Given the description of an element on the screen output the (x, y) to click on. 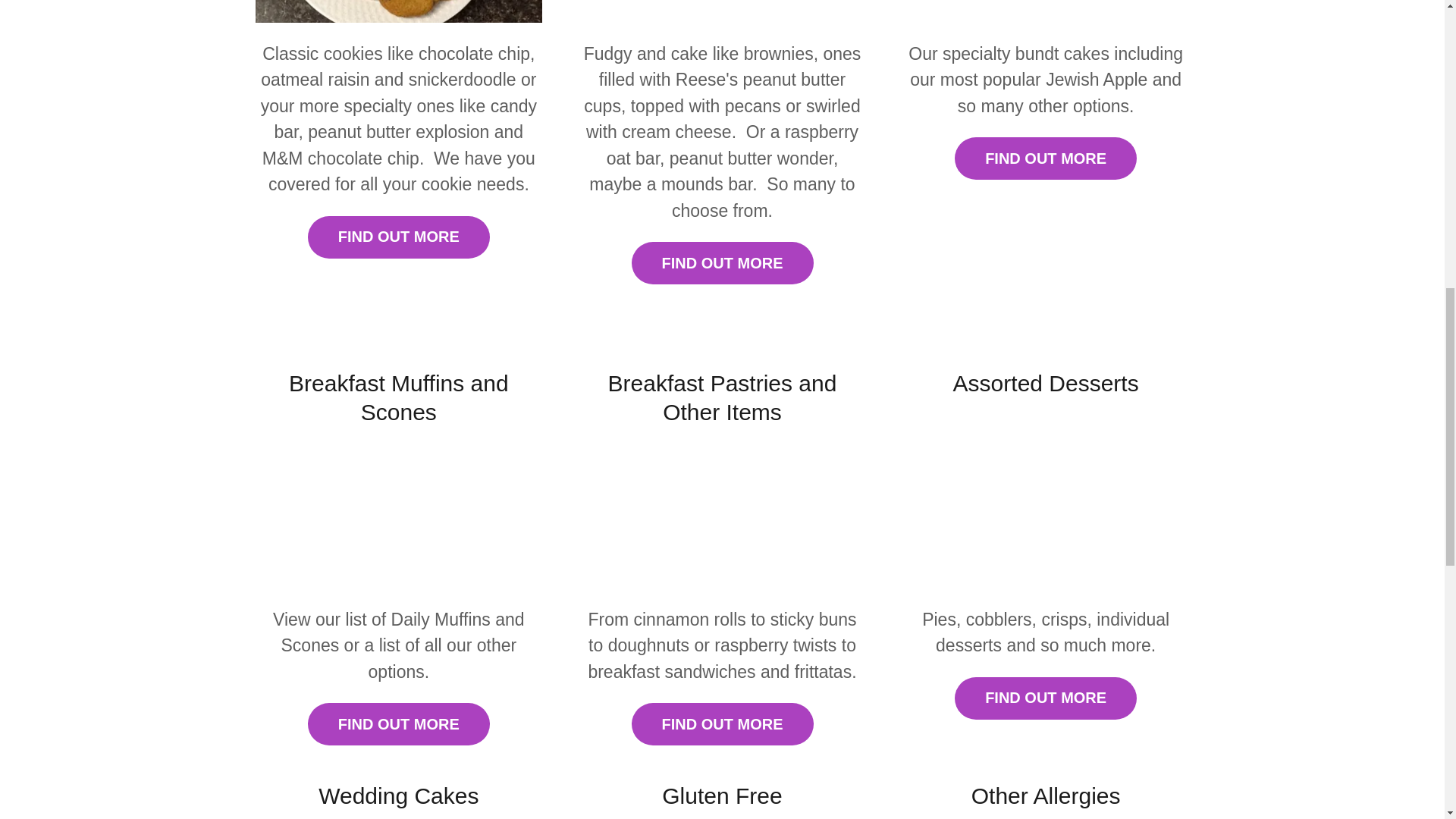
FIND OUT MORE (721, 262)
FIND OUT MORE (398, 723)
FIND OUT MORE (398, 237)
FIND OUT MORE (721, 723)
FIND OUT MORE (1046, 158)
FIND OUT MORE (1046, 698)
